Given the description of an element on the screen output the (x, y) to click on. 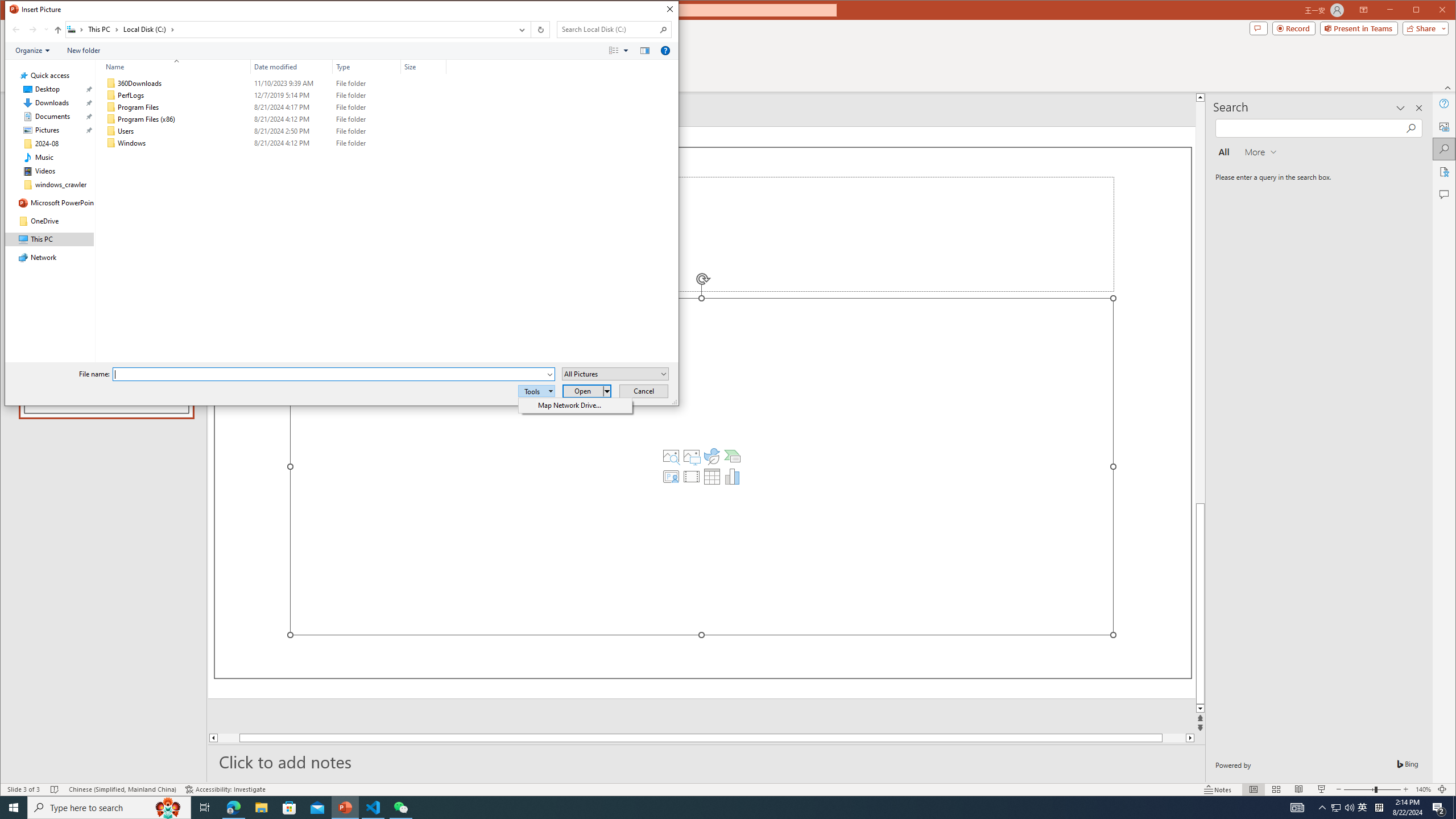
This PC (102, 29)
Date modified (291, 142)
Preview pane (644, 50)
Insert Cameo (670, 476)
Slide Notes (706, 761)
View Slider (626, 50)
Maximize (1432, 11)
File name: (329, 374)
Tools (1335, 807)
Local Disk (C:) (536, 390)
Users (148, 29)
